Given the description of an element on the screen output the (x, y) to click on. 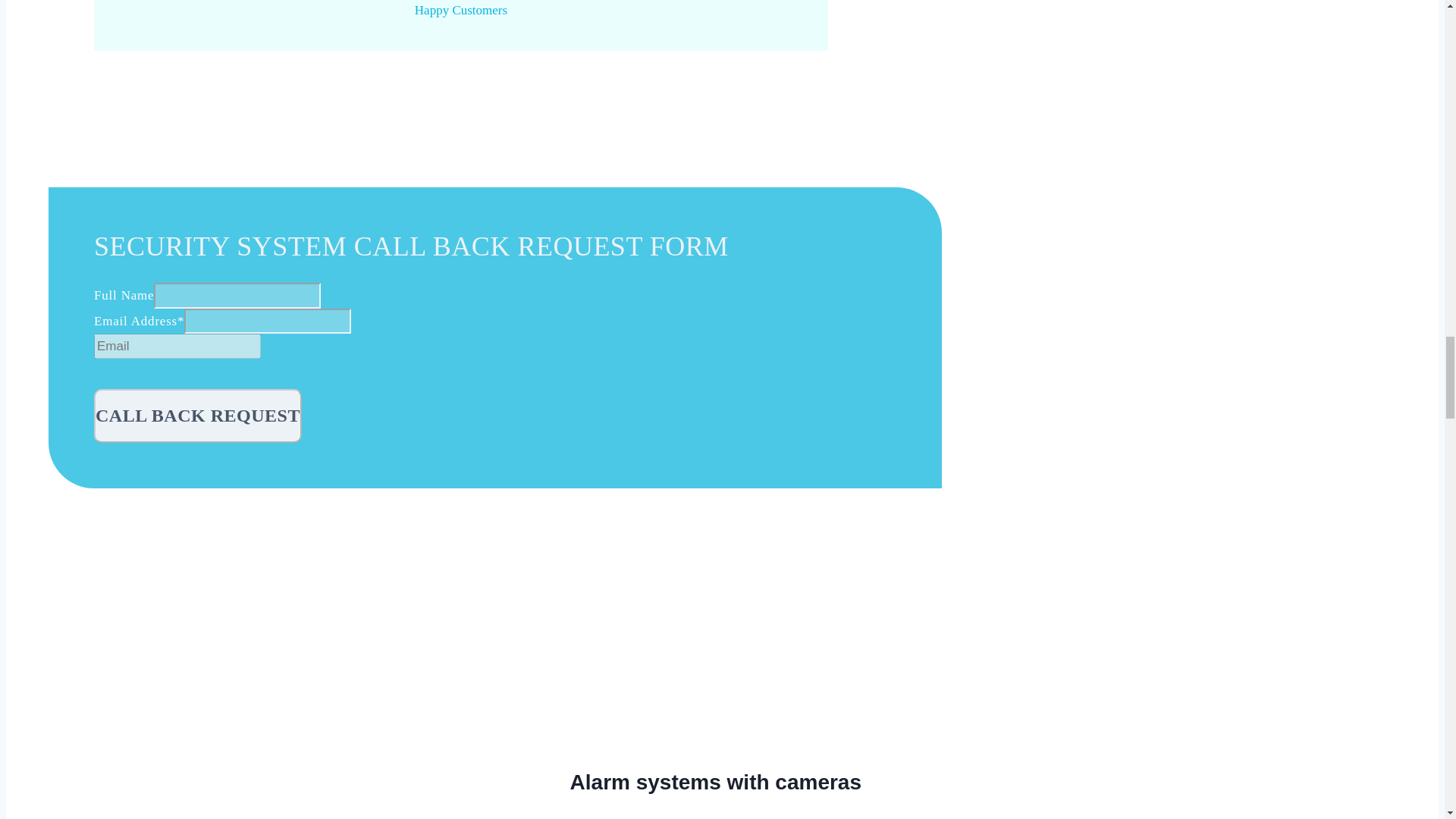
CALL BACK REQUEST (197, 416)
